Given the description of an element on the screen output the (x, y) to click on. 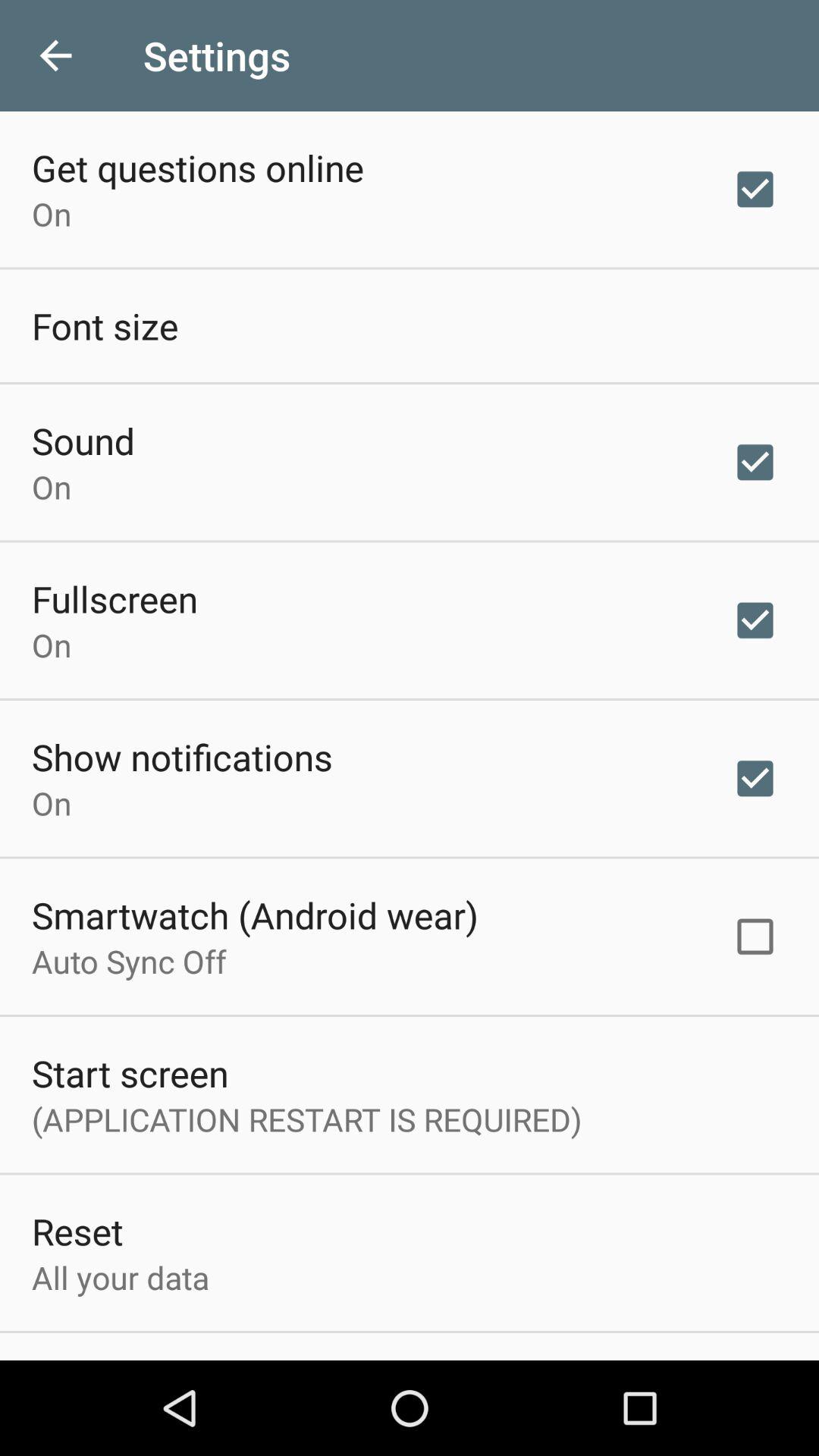
tap the item below auto sync off (129, 1072)
